Given the description of an element on the screen output the (x, y) to click on. 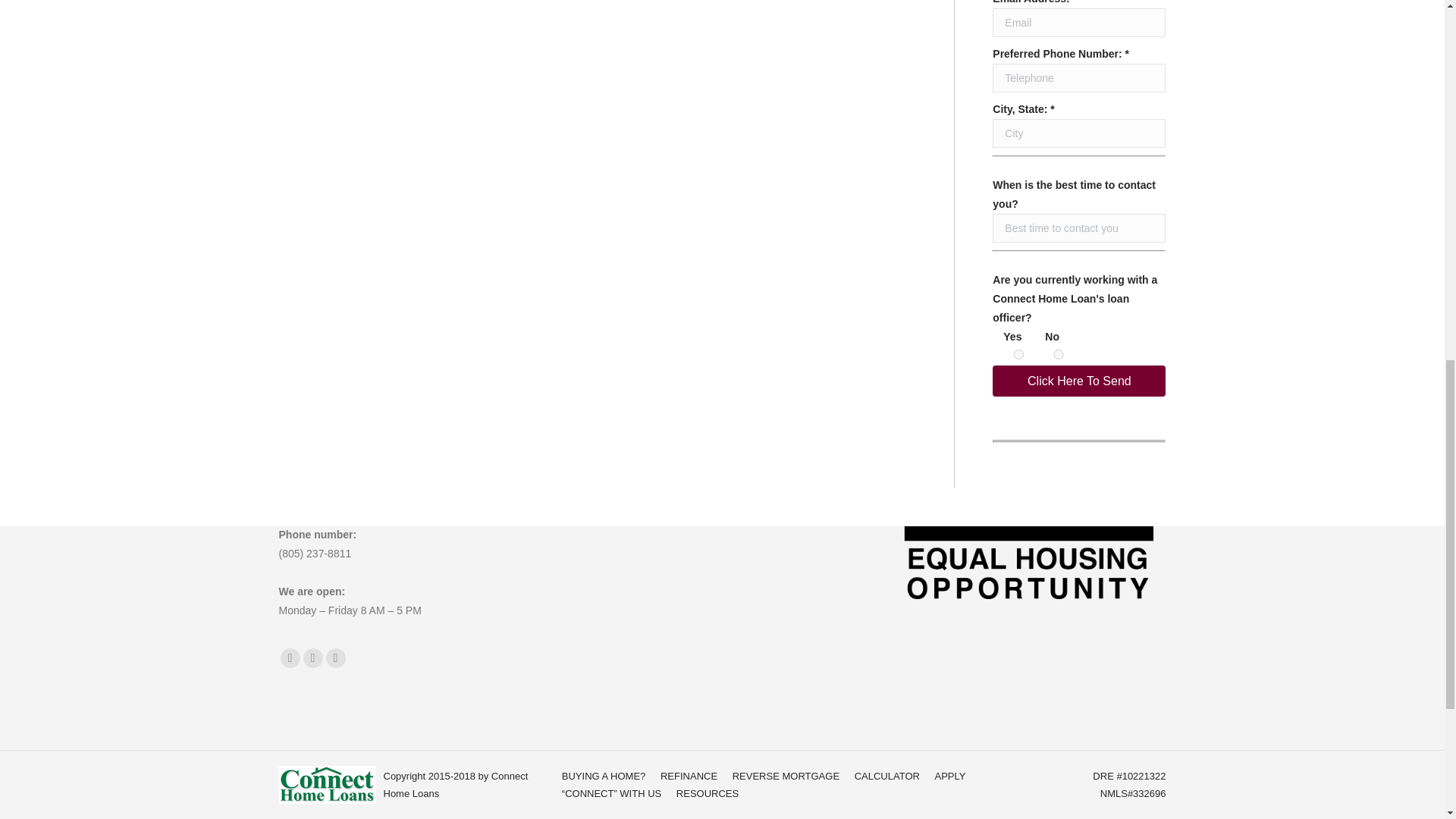
No (1058, 354)
Yes (1018, 354)
Click Here To Send (1079, 380)
